Given the description of an element on the screen output the (x, y) to click on. 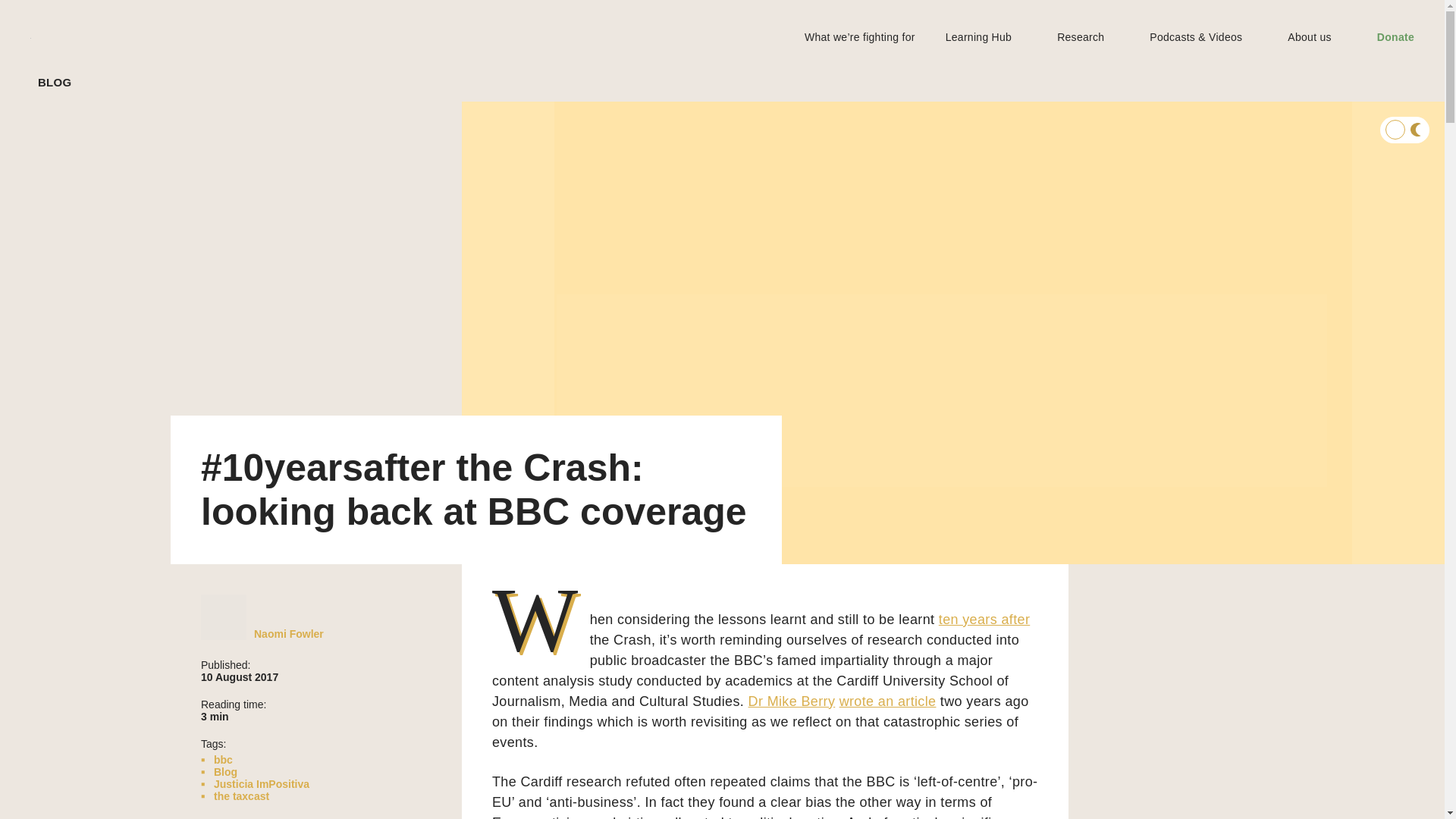
Naomi Fowler (288, 633)
the taxcast (241, 796)
Justicia ImPositiva (261, 784)
About us (1309, 36)
Blog (225, 771)
Research (1080, 36)
Posts by Naomi Fowler (288, 633)
bbc (223, 759)
Learning Hub (977, 36)
